Given the description of an element on the screen output the (x, y) to click on. 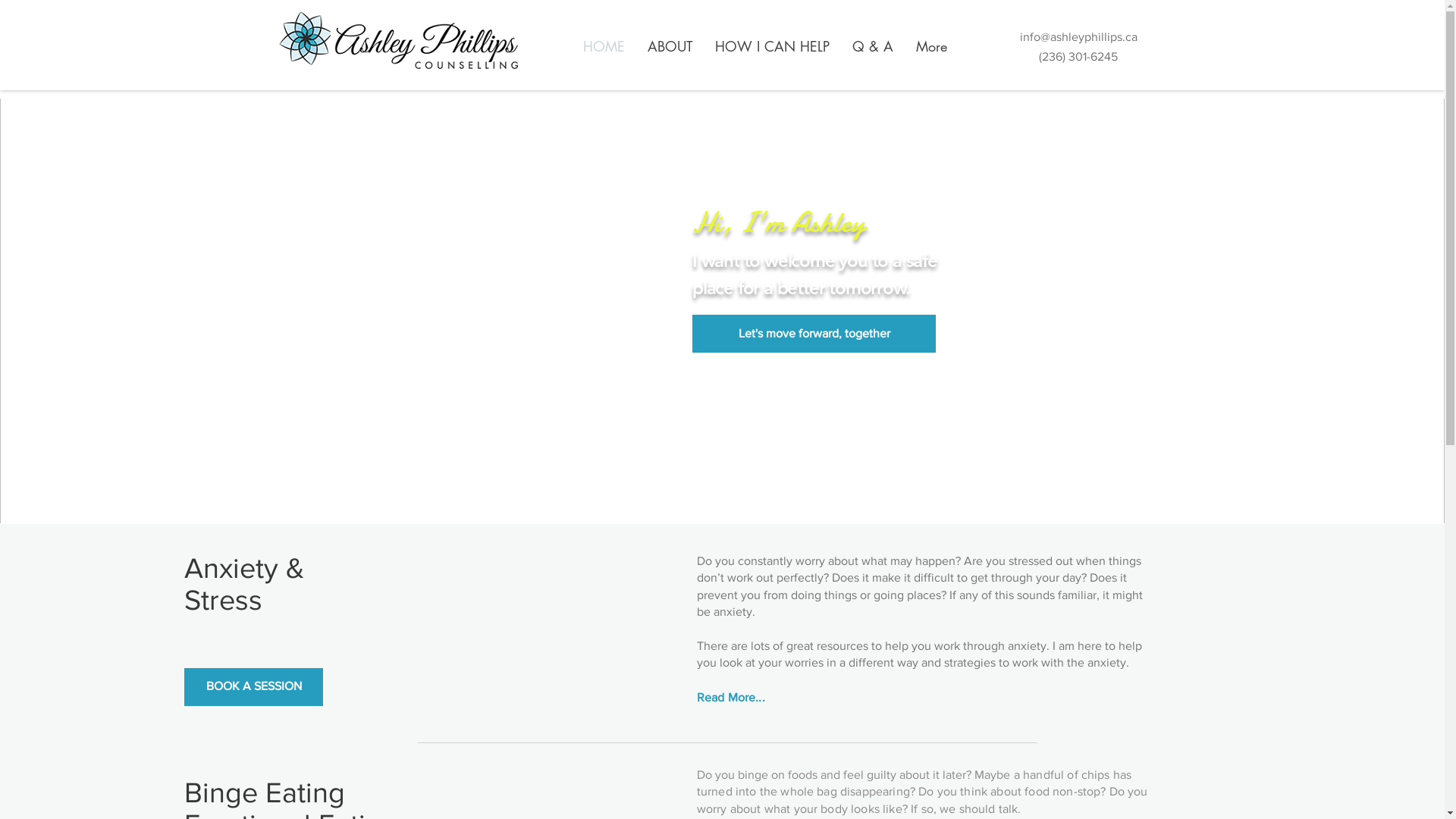
Q & A Element type: text (871, 46)
Read More... Element type: text (730, 696)
HOME Element type: text (603, 46)
Let's move forward, together Element type: text (813, 333)
BOOK A SESSION Element type: text (253, 687)
info@ashleyphillips.ca Element type: text (1077, 36)
